Given the description of an element on the screen output the (x, y) to click on. 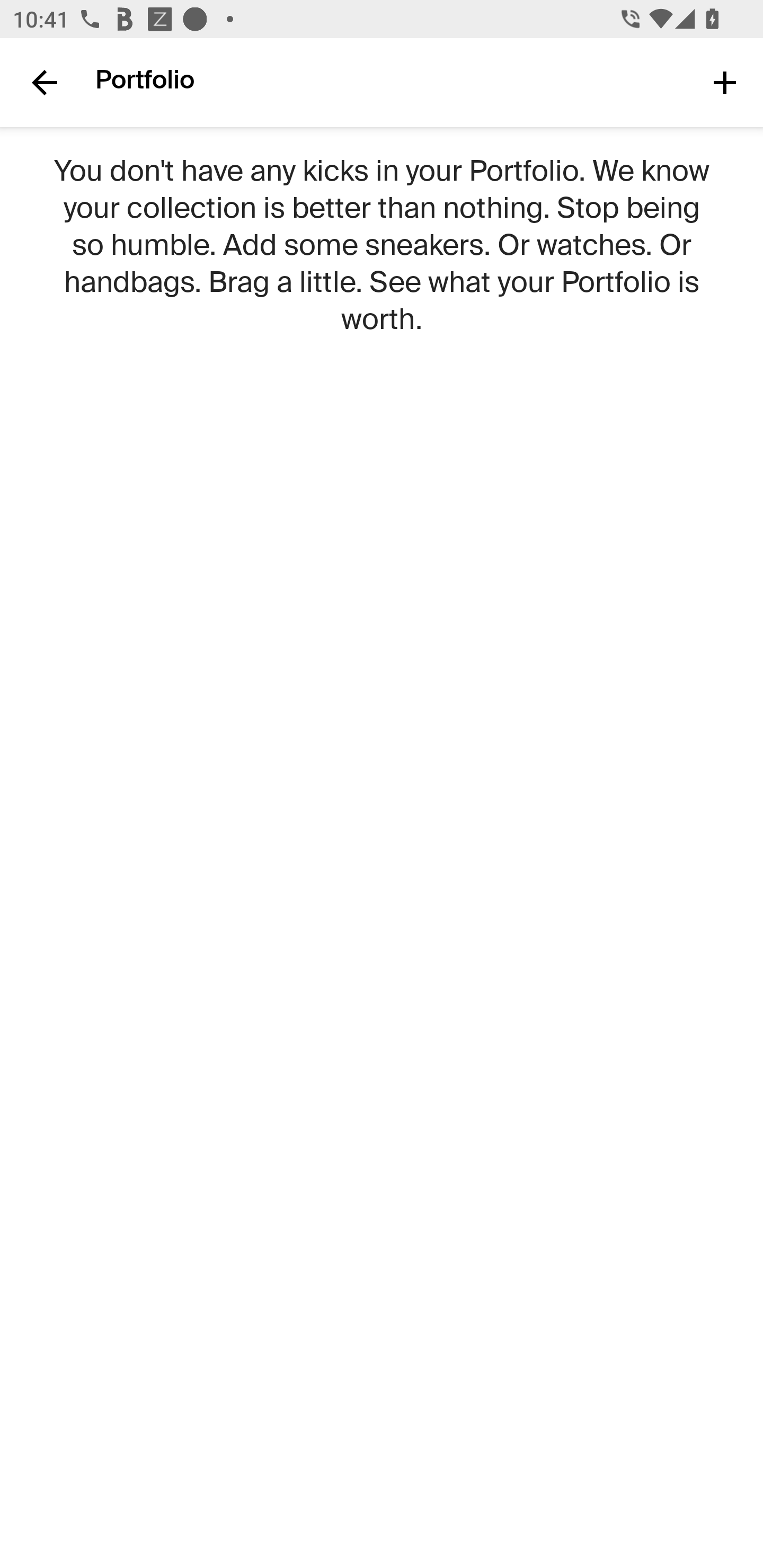
Navigate up (44, 82)
Add (724, 81)
